Given the description of an element on the screen output the (x, y) to click on. 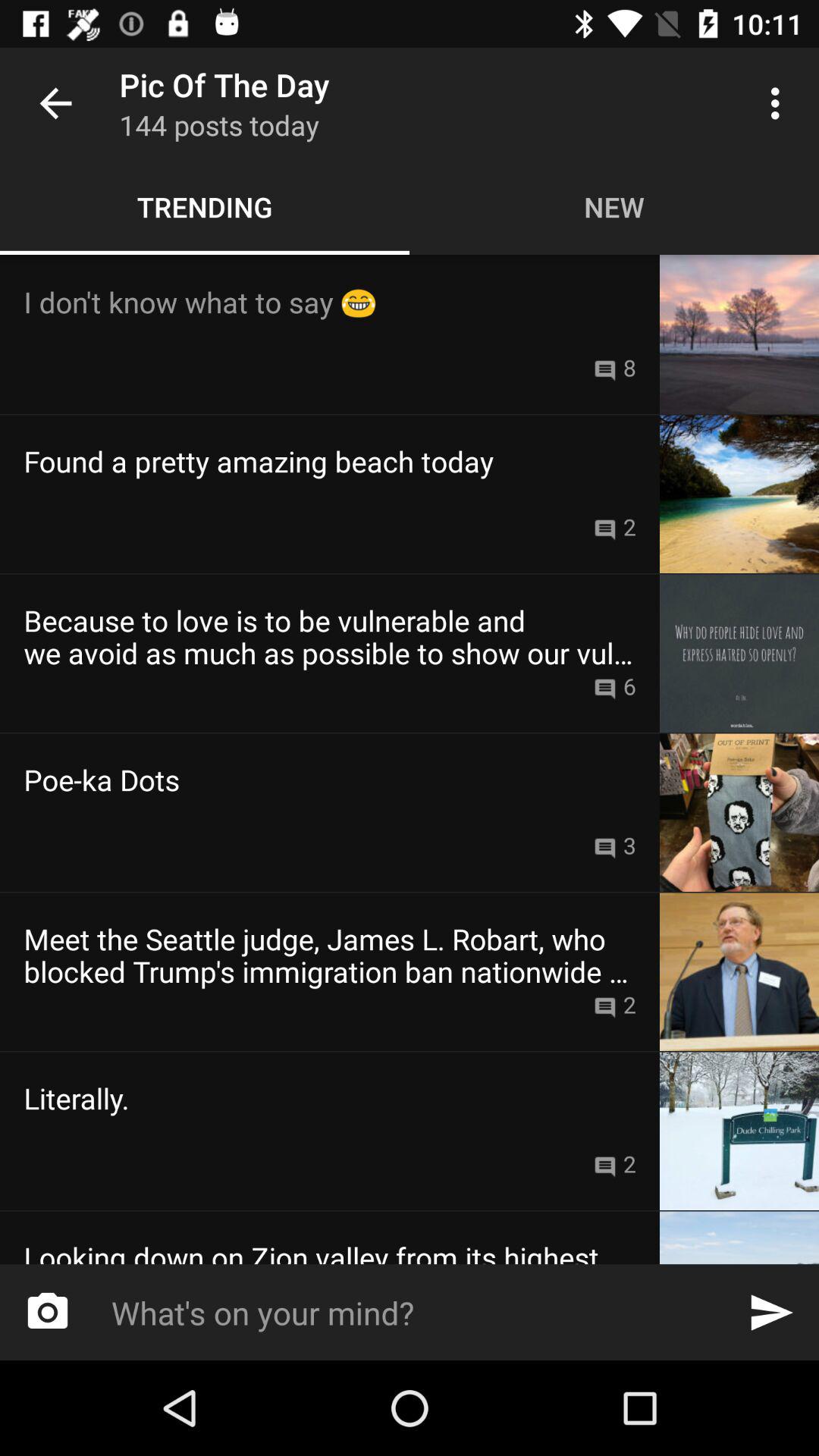
choose the icon below looking down on (47, 1312)
